Given the description of an element on the screen output the (x, y) to click on. 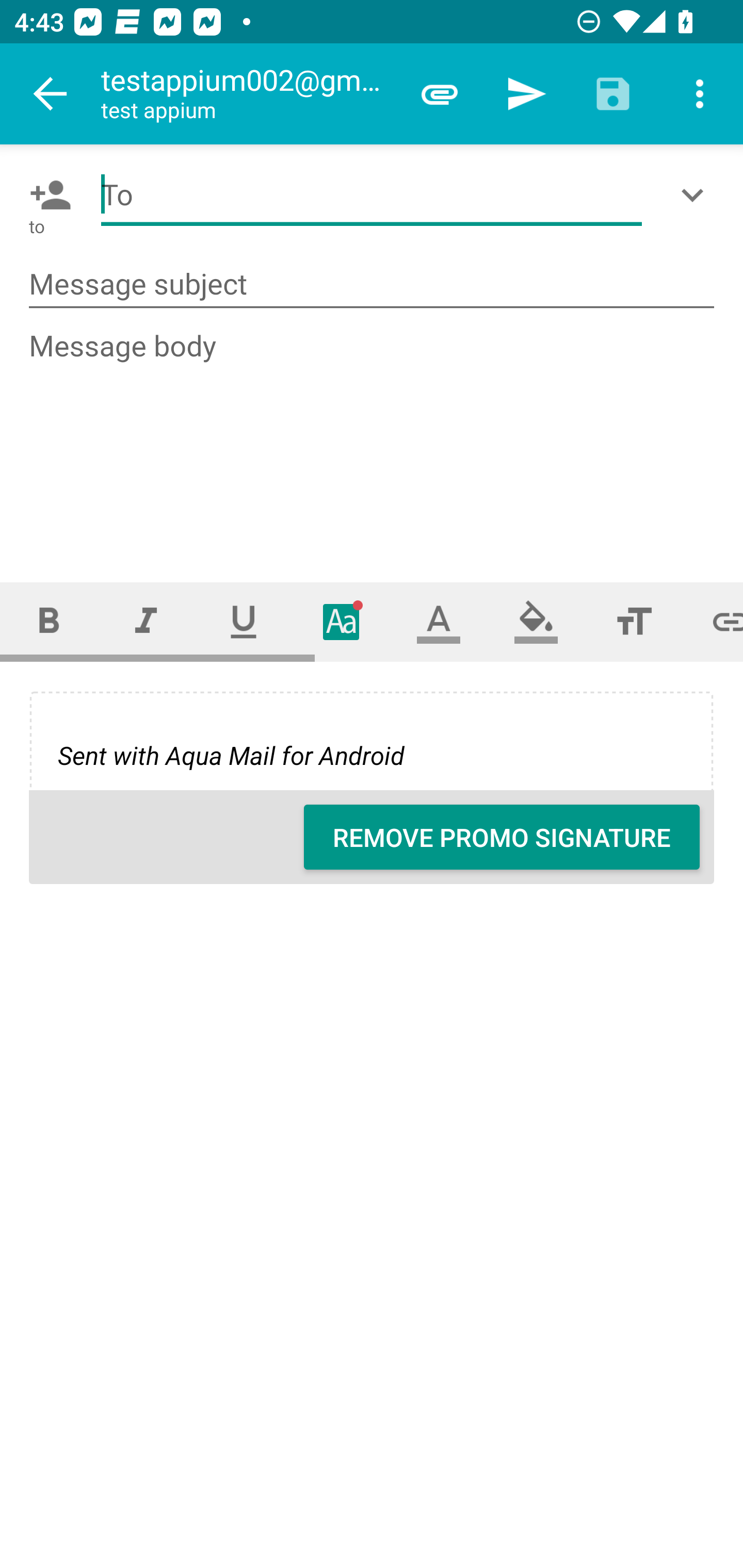
Navigate up (50, 93)
testappium002@gmail.com test appium (248, 93)
Attach (439, 93)
Send (525, 93)
Save (612, 93)
More options (699, 93)
Pick contact: To (46, 195)
Show/Add CC/BCC (696, 195)
To (371, 195)
Message subject (371, 284)
Bold (48, 621)
Italic (145, 621)
Underline (243, 621)
Typeface (font) (341, 621)
Text color (438, 621)
Fill color (536, 621)
Font size (633, 621)
Set link (712, 621)
REMOVE PROMO SIGNATURE (501, 837)
